Given the description of an element on the screen output the (x, y) to click on. 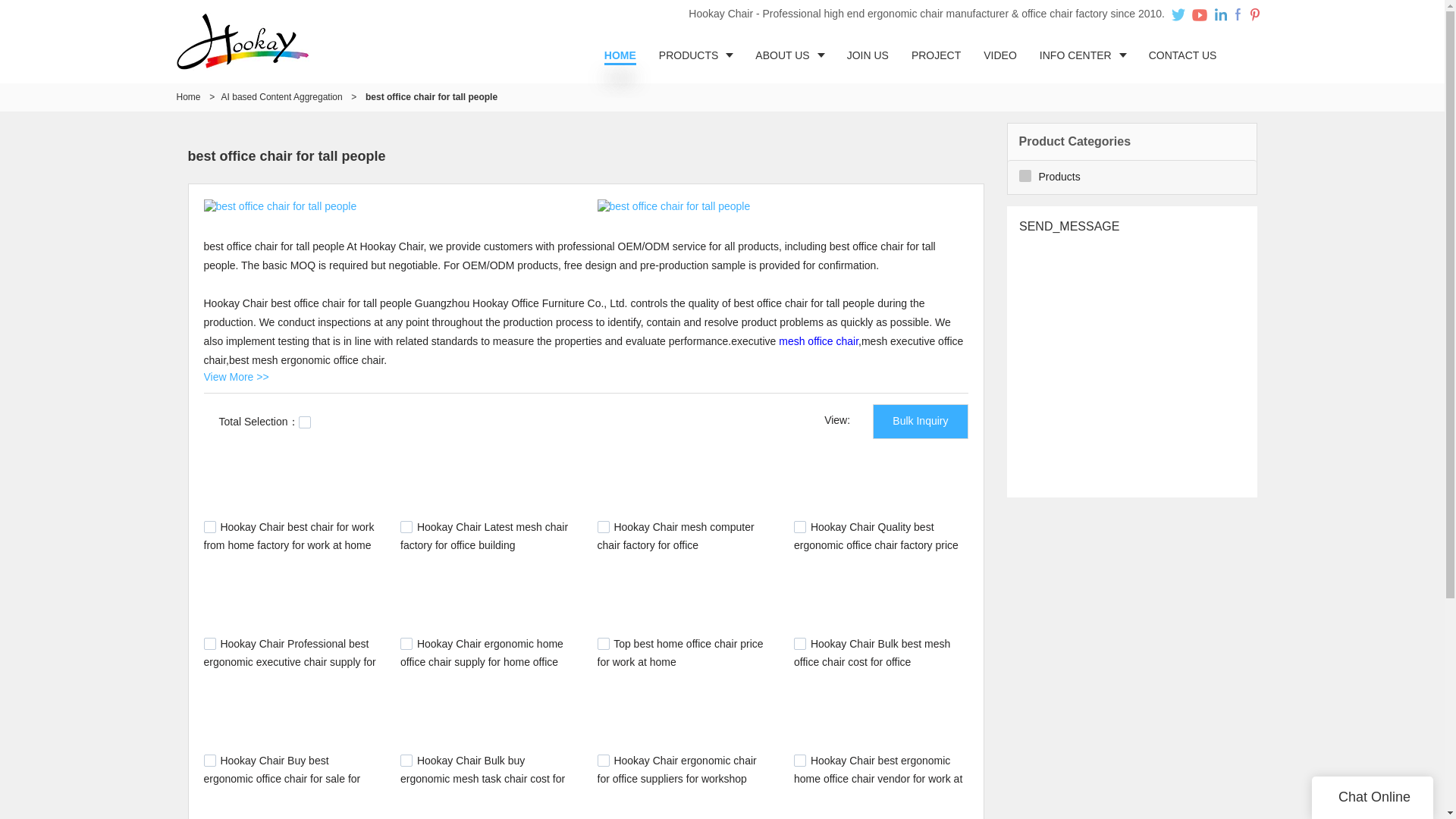
JOIN US (867, 55)
2253 (209, 760)
Hookay Chair mesh computer chair factory for office (675, 535)
2175 (603, 760)
Hookay Chair Latest mesh chair factory for office building (483, 535)
Hookay Chair Bulk best mesh office chair cost for office (871, 653)
INFO CENTER (1082, 55)
HOME (619, 55)
